Given the description of an element on the screen output the (x, y) to click on. 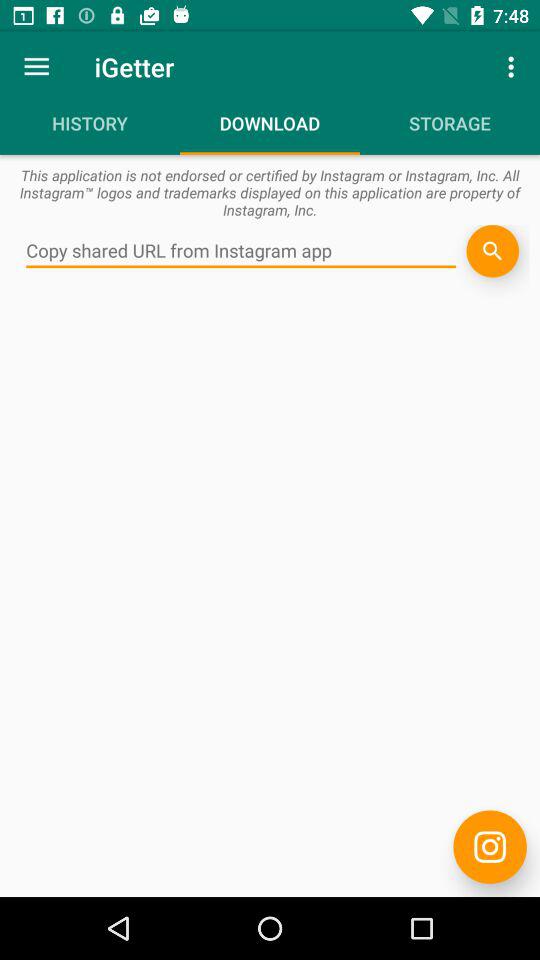
text box for url (241, 251)
